Given the description of an element on the screen output the (x, y) to click on. 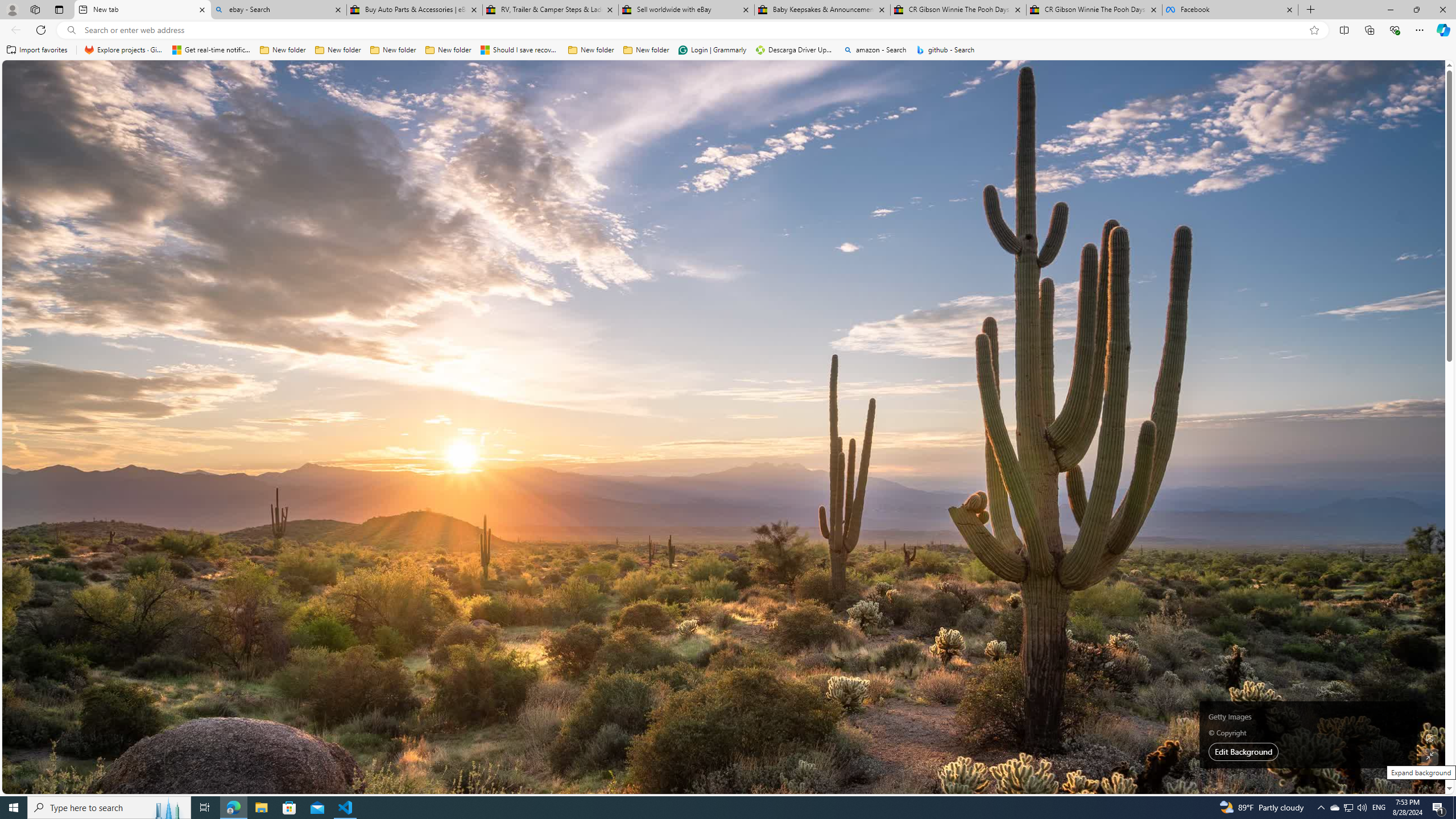
Top stories (325, 359)
My location (1043, 179)
Shanghai (1018, 179)
AutomationID: tab-16 (431, 328)
Traffic incidents (1044, 718)
AutomationID: tab-19 (444, 328)
